Given the description of an element on the screen output the (x, y) to click on. 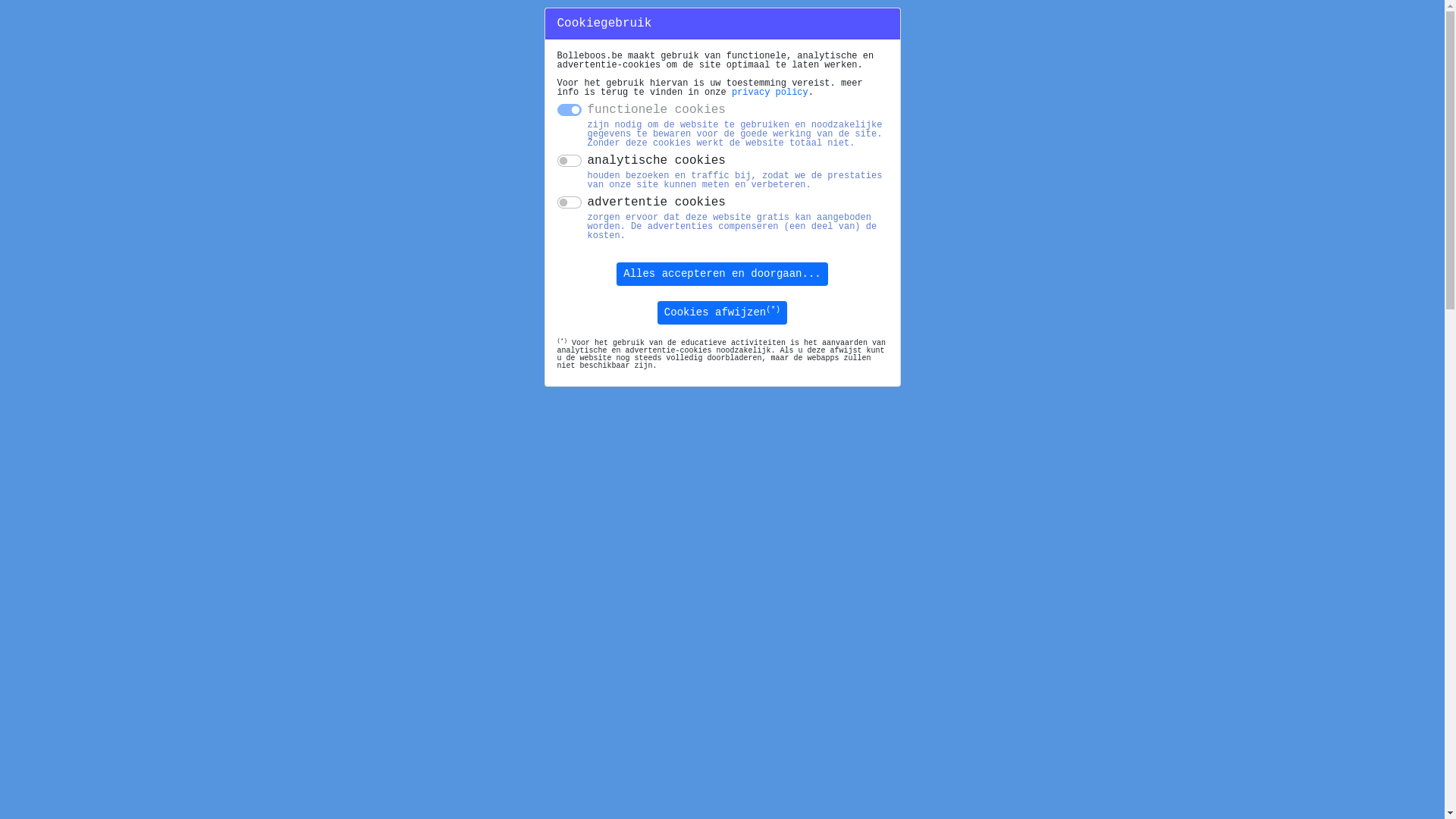
privacy policy Element type: text (769, 92)
Alles accepteren en doorgaan... Element type: text (721, 273)
Cookies afwijzen(*) Element type: text (722, 312)
